Given the description of an element on the screen output the (x, y) to click on. 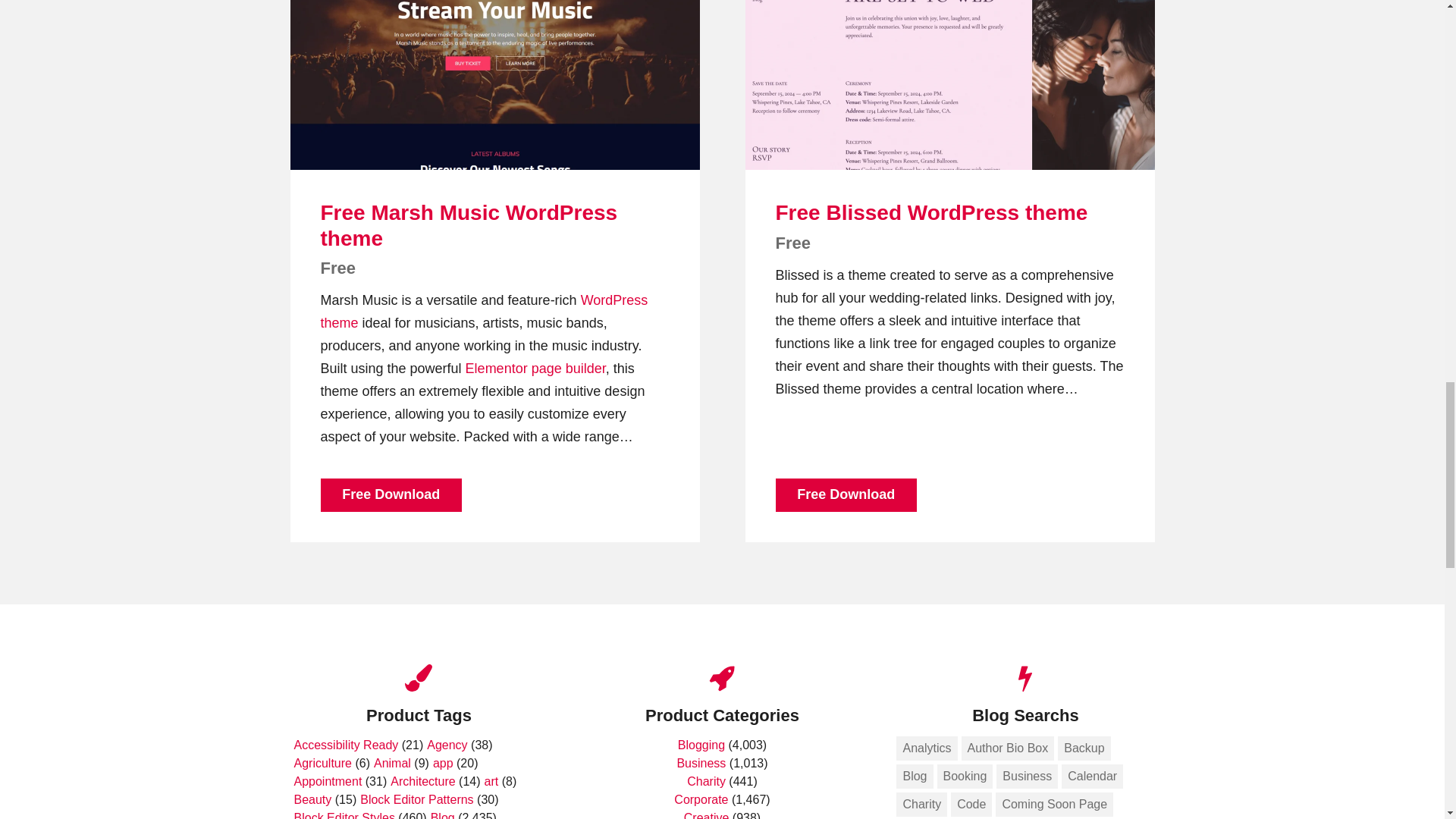
Agency (446, 744)
Animal (392, 762)
Get Elementor (496, 368)
Wordpress themes (483, 311)
Continue reading Free Marsh Music WordPress theme (493, 84)
Free Download (845, 494)
Free Marsh Music WordPress theme (468, 225)
Free Download (390, 494)
app (442, 762)
WordPress theme (483, 311)
